Given the description of an element on the screen output the (x, y) to click on. 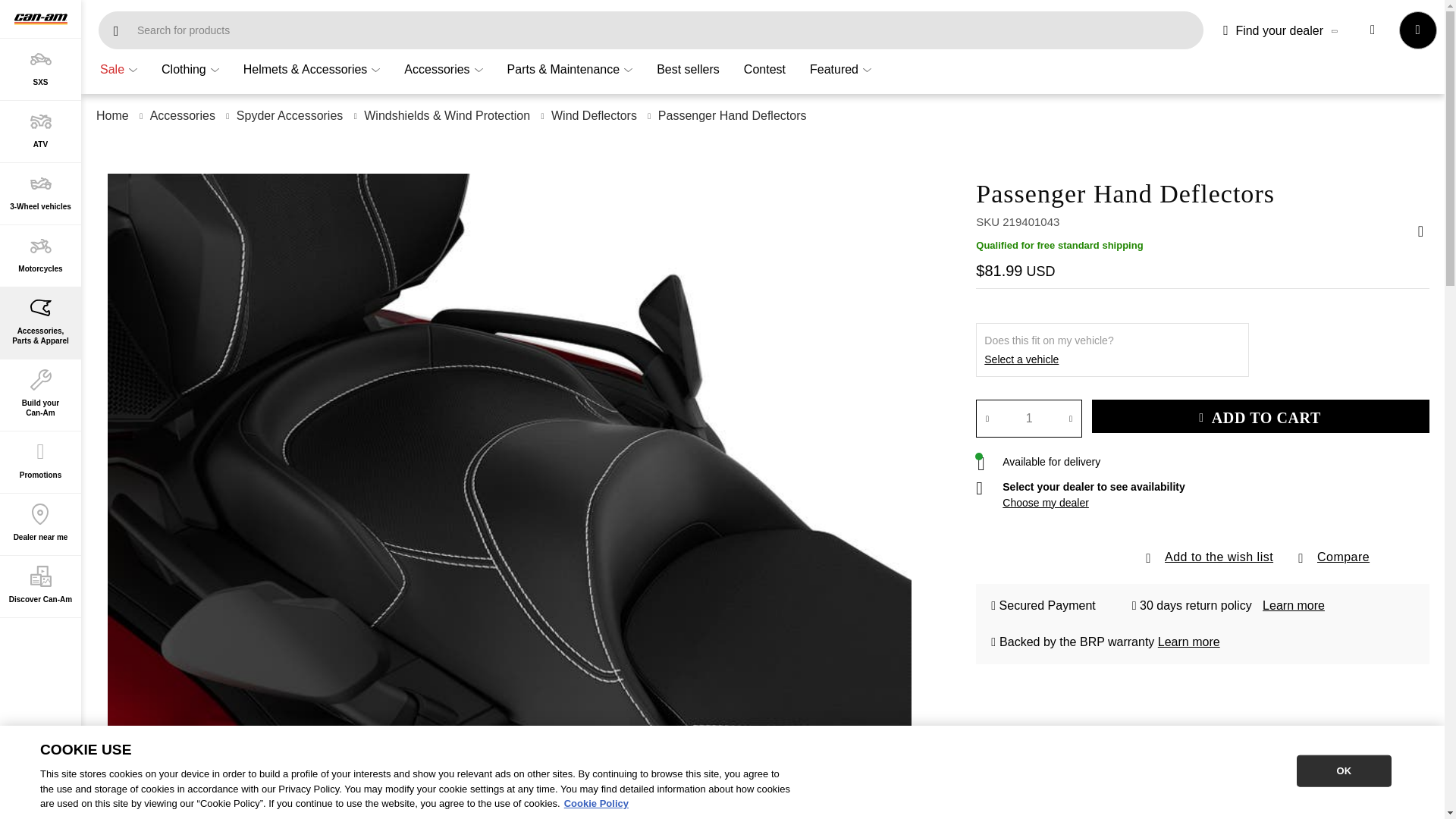
Add to Cart (1260, 416)
Can-AM On-Road (40, 19)
Search (116, 30)
Can-AM On-Road (39, 19)
Go to Home Page (112, 115)
1 (1028, 418)
Quantity (1028, 418)
